Given the description of an element on the screen output the (x, y) to click on. 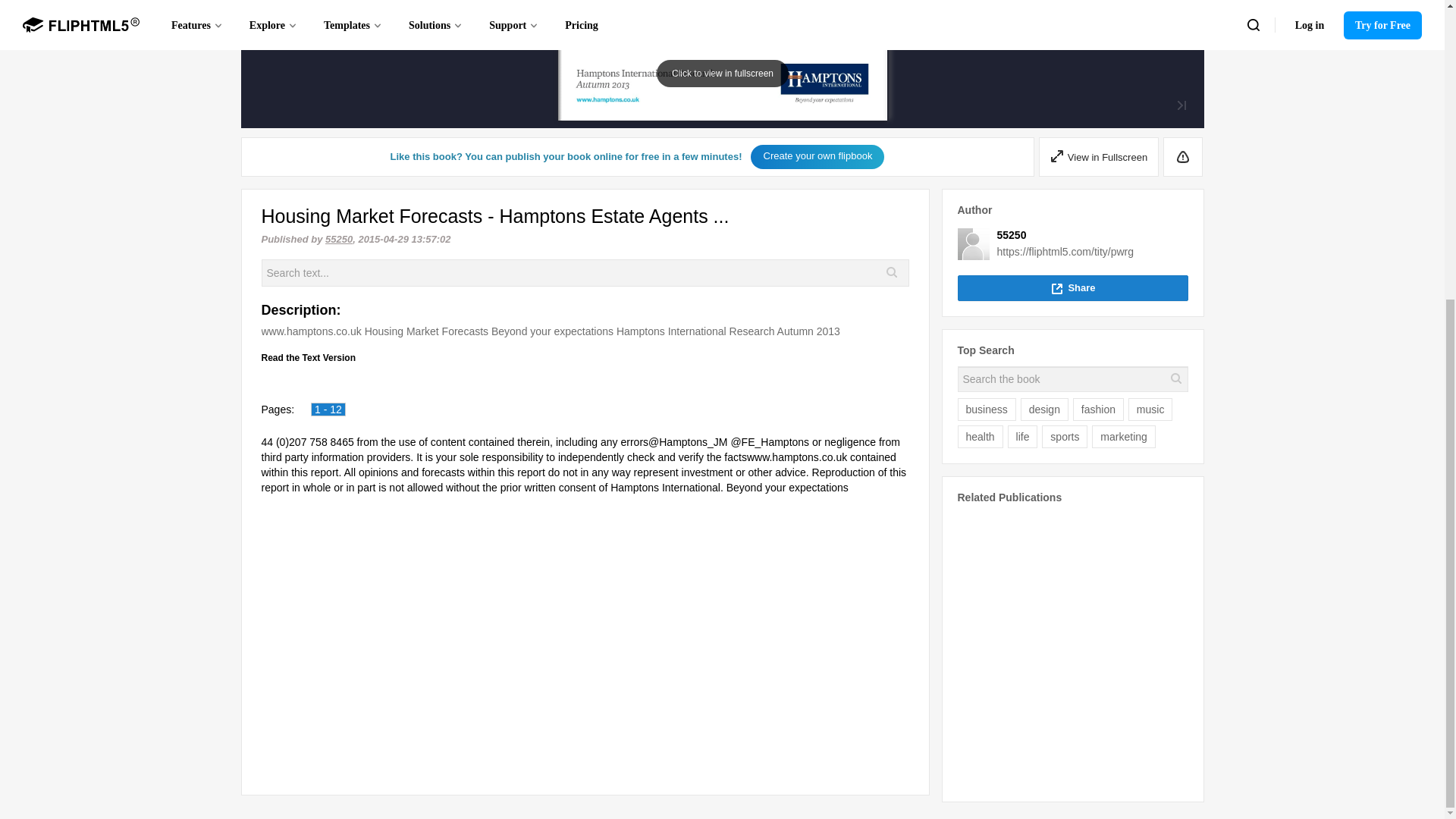
Visit its homepage (1010, 234)
Report this book to us (1182, 156)
Visit its homepage (972, 244)
